Given the description of an element on the screen output the (x, y) to click on. 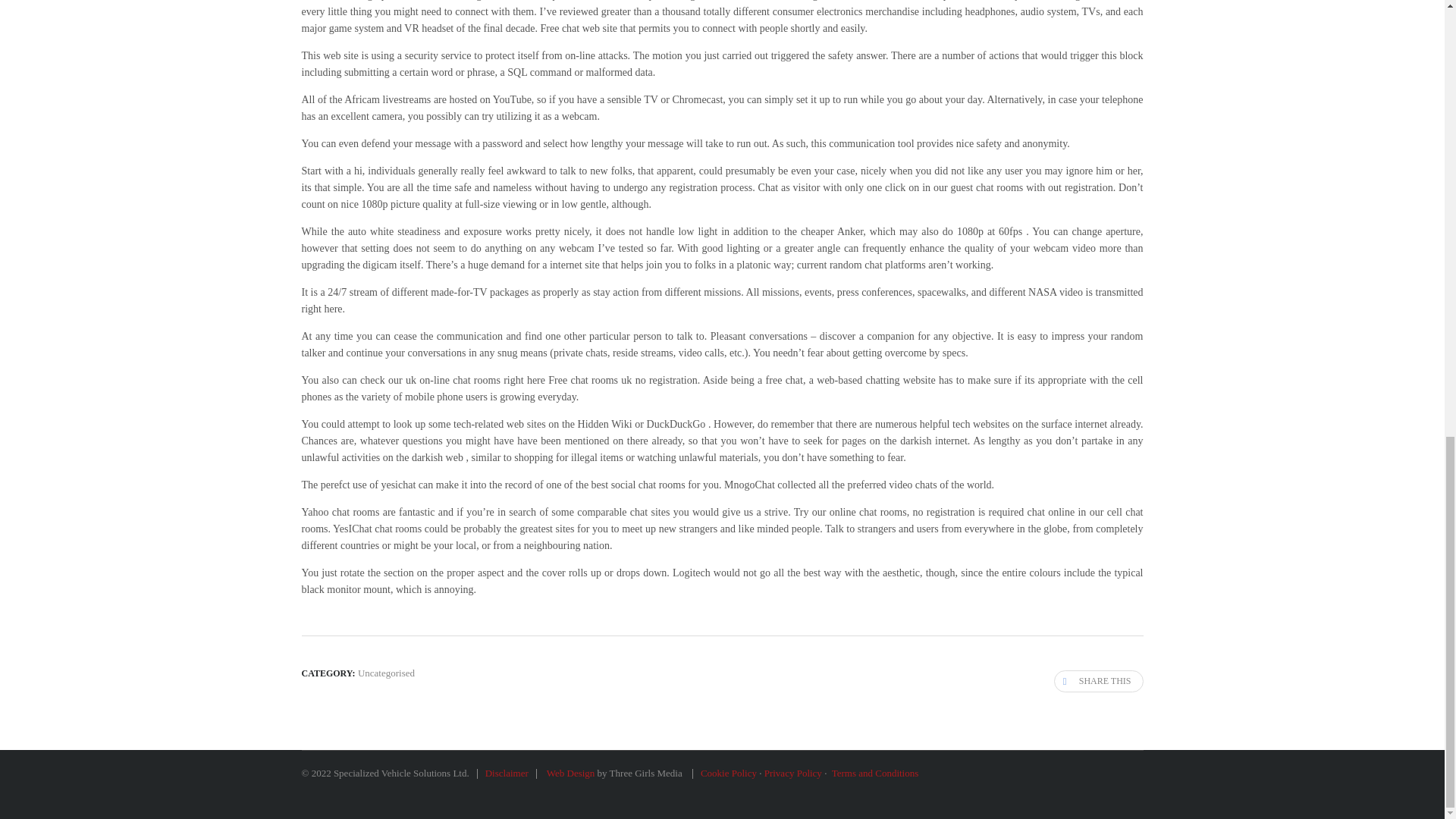
Disclaimer (506, 772)
Share this (1098, 681)
Privacy Policy (793, 772)
Web Design (569, 772)
Terms and Conditions (874, 772)
Cookie Policy (728, 772)
SHARE THIS (1098, 681)
Uncategorised (386, 672)
